Given the description of an element on the screen output the (x, y) to click on. 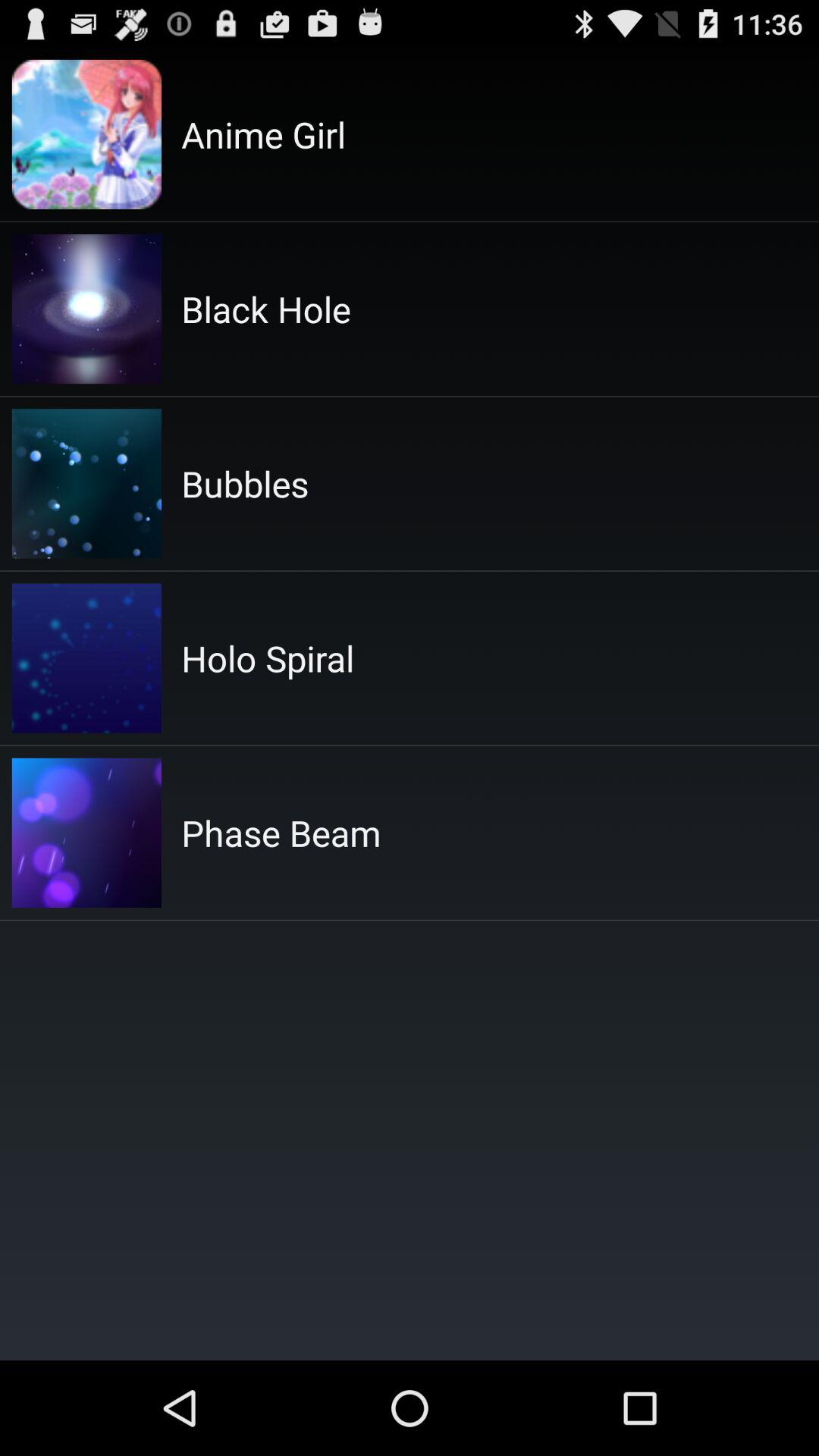
turn on the black hole app (265, 308)
